Given the description of an element on the screen output the (x, y) to click on. 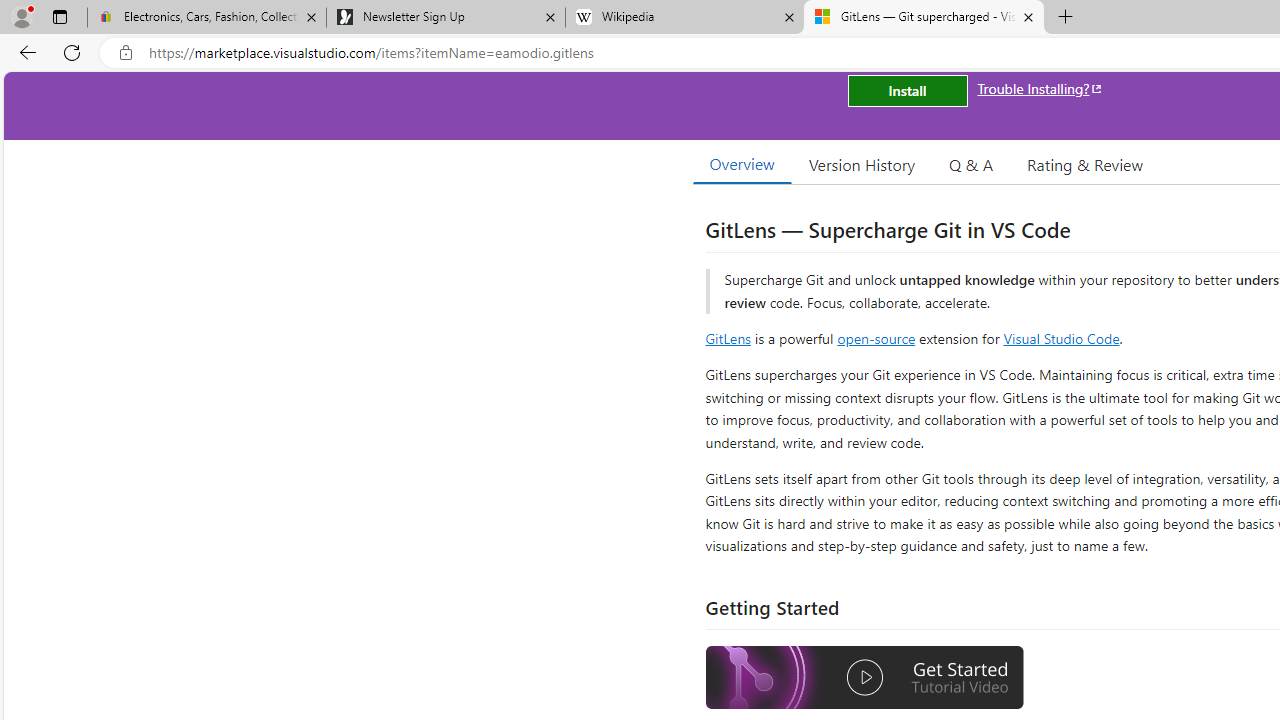
Version History (862, 164)
Watch the GitLens Getting Started video (865, 679)
Watch the GitLens Getting Started video (865, 678)
